Given the description of an element on the screen output the (x, y) to click on. 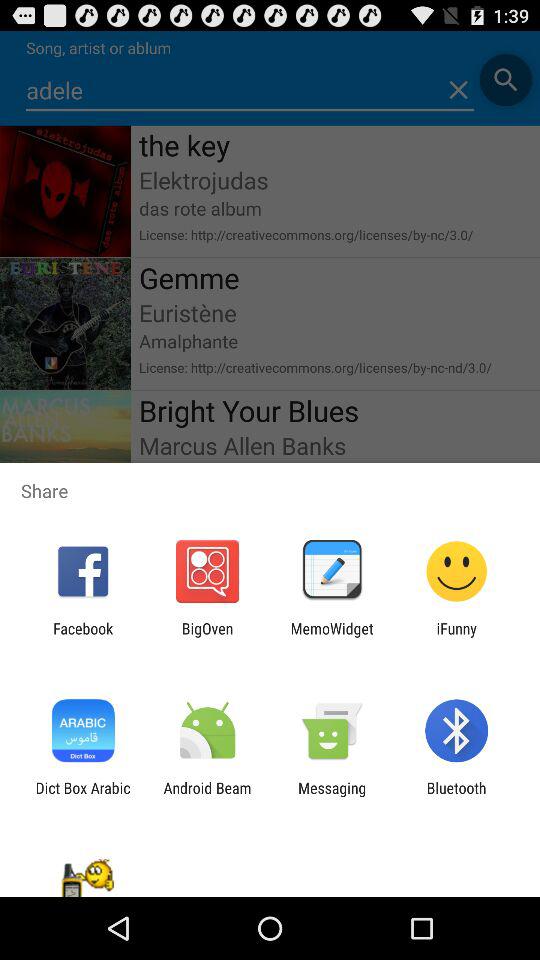
click the messaging app (332, 796)
